Given the description of an element on the screen output the (x, y) to click on. 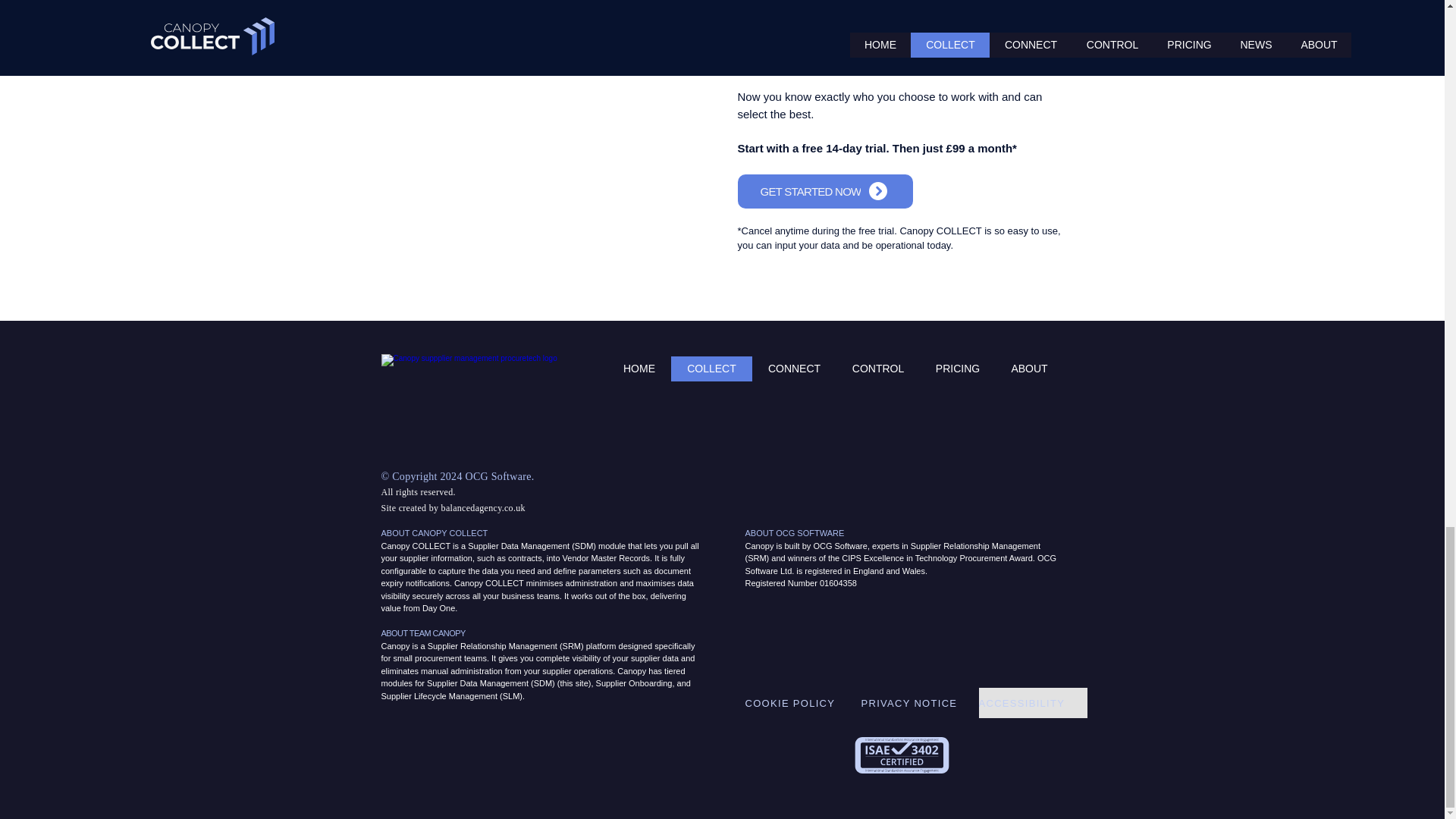
HOME (639, 367)
GET STARTED NOW (824, 190)
COLLECT (710, 367)
